Given the description of an element on the screen output the (x, y) to click on. 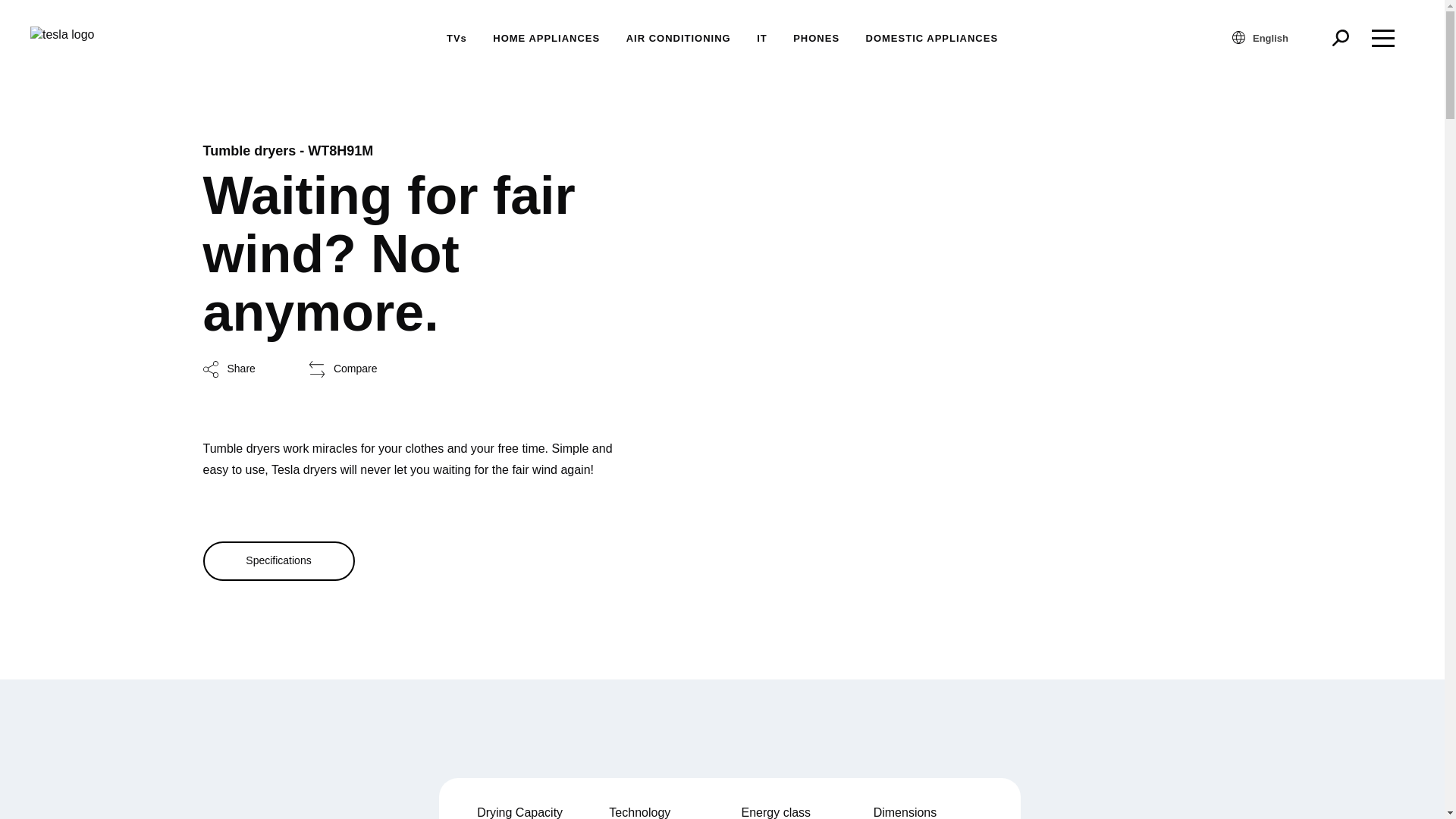
DOMESTIC APPLIANCES (932, 38)
TVs (456, 38)
IT (762, 38)
English (1276, 37)
language (1237, 37)
Share (229, 369)
PHONES (816, 38)
HOME APPLIANCES (546, 38)
AIR CONDITIONING (678, 38)
